Given the description of an element on the screen output the (x, y) to click on. 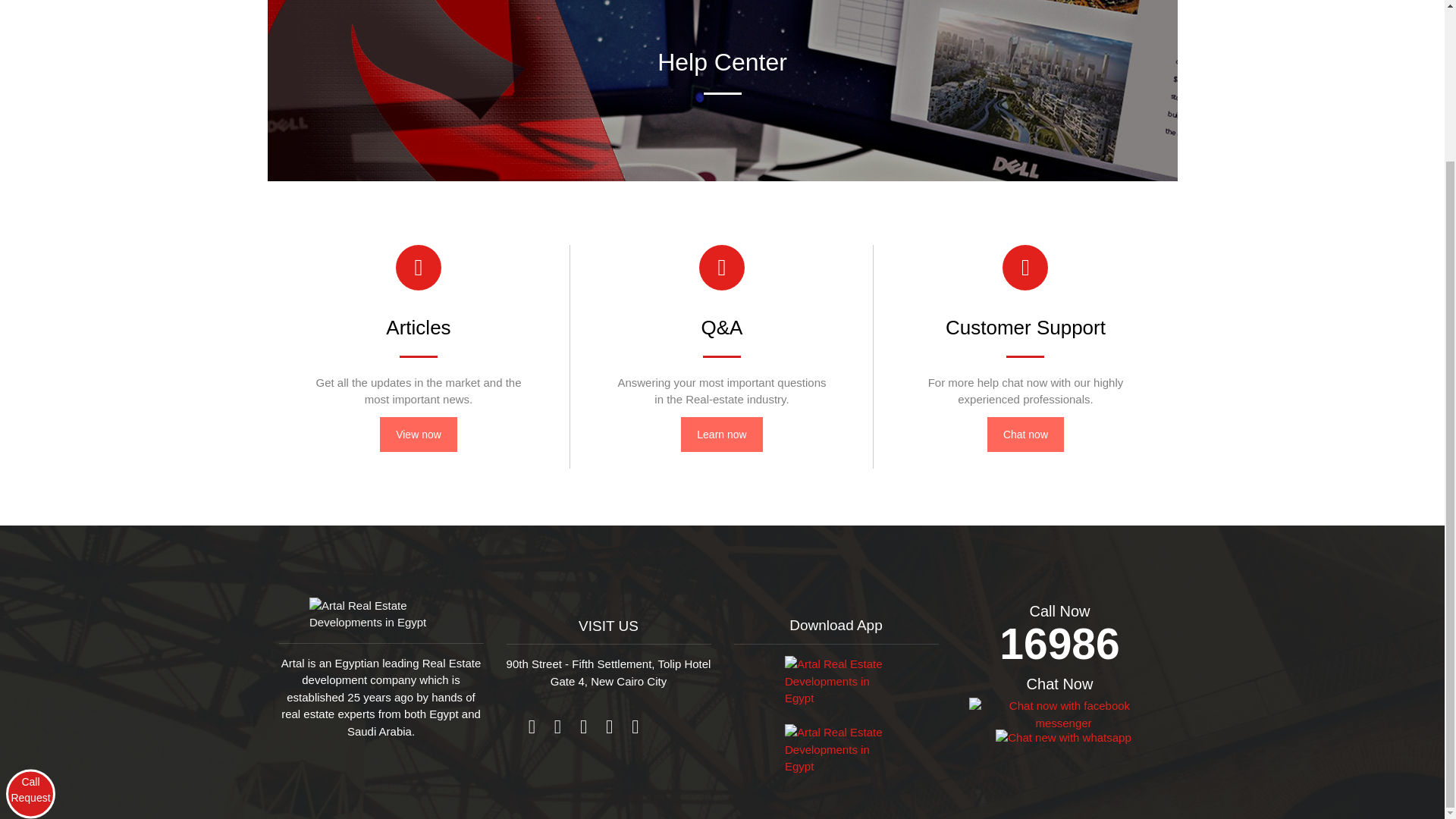
View now (418, 434)
Call Request (30, 603)
Chat now (1025, 434)
16986 (1058, 643)
Learn now (721, 434)
